Given the description of an element on the screen output the (x, y) to click on. 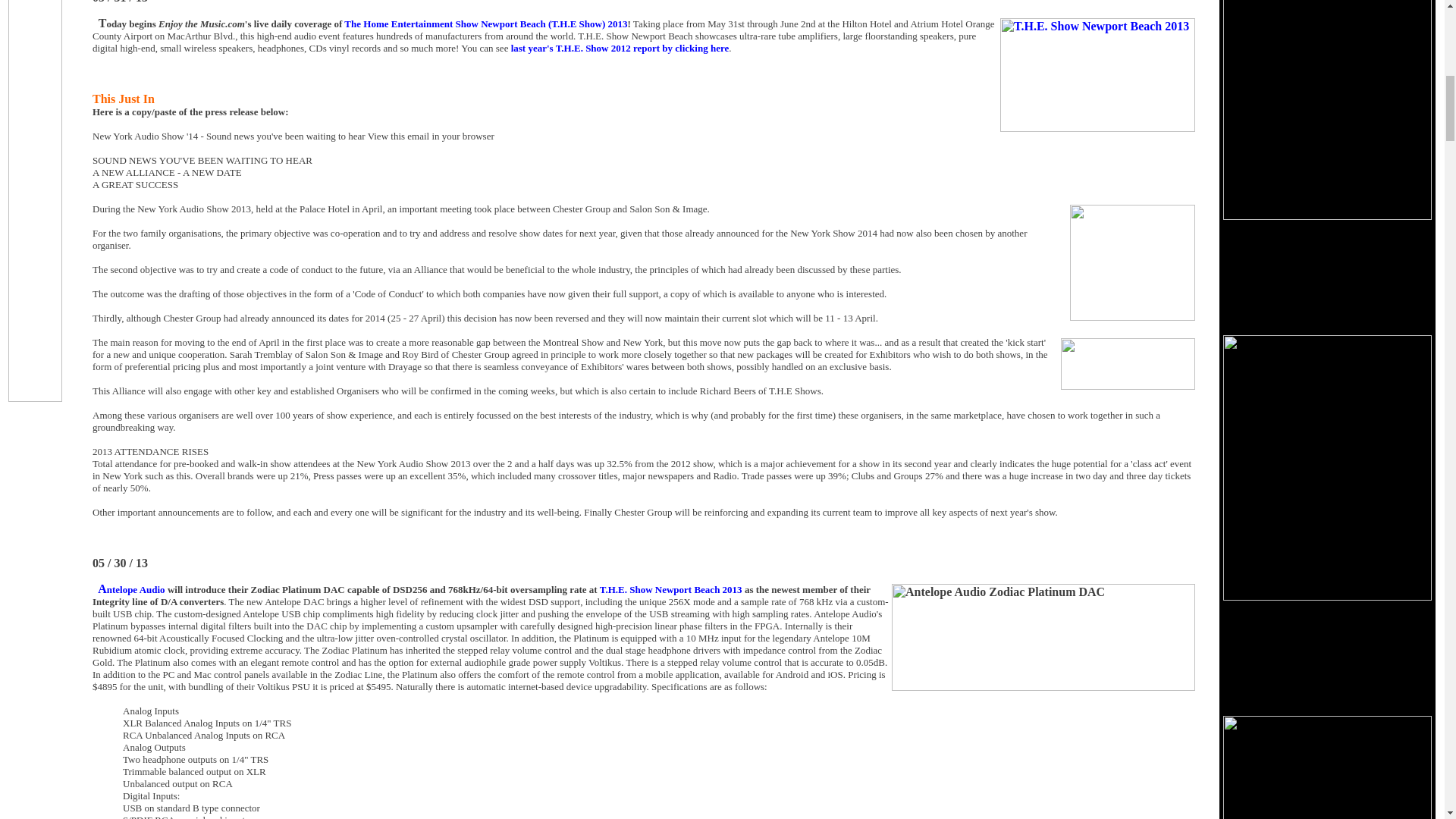
ntelope Audio (135, 589)
last year's T.H.E. Show 2012 report by clicking here (620, 48)
T.H.E. Show Newport Beach 2013 (670, 589)
